Given the description of an element on the screen output the (x, y) to click on. 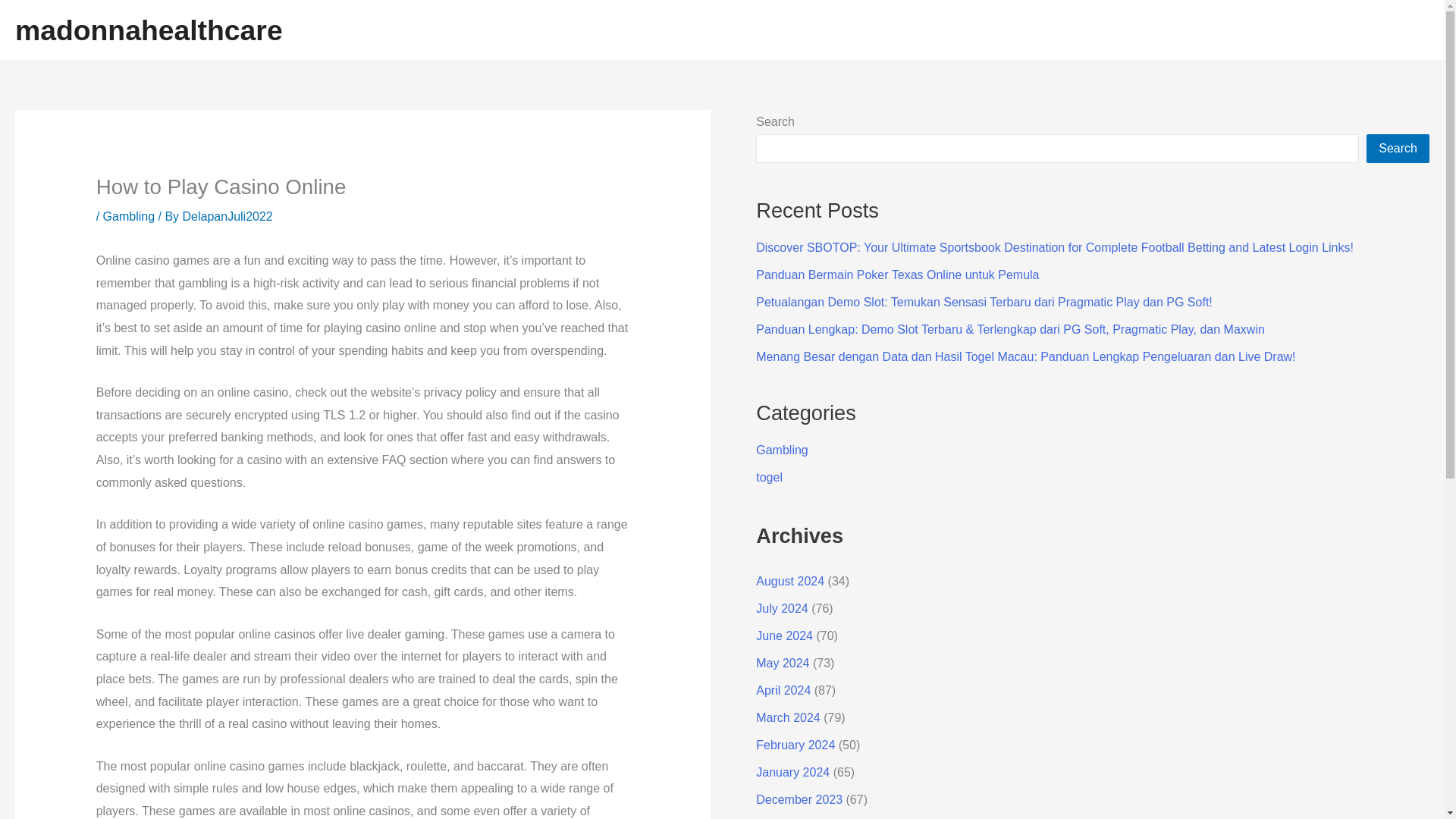
togel (769, 477)
Search (1398, 148)
Gambling (128, 215)
December 2023 (799, 799)
January 2024 (792, 771)
August 2024 (789, 581)
February 2024 (794, 744)
View all posts by DelapanJuli2022 (228, 215)
June 2024 (783, 635)
